Given the description of an element on the screen output the (x, y) to click on. 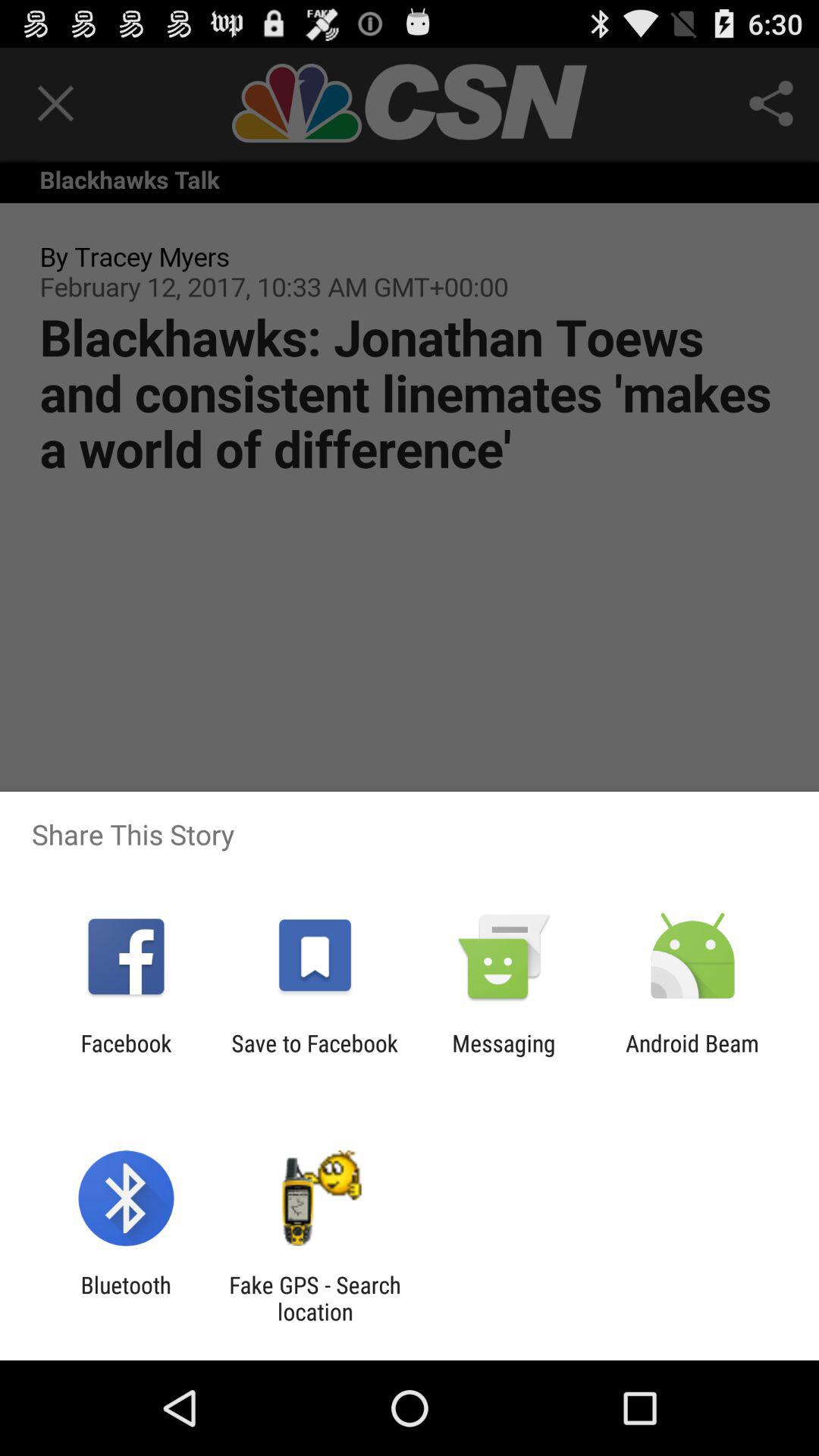
select the android beam (692, 1056)
